Given the description of an element on the screen output the (x, y) to click on. 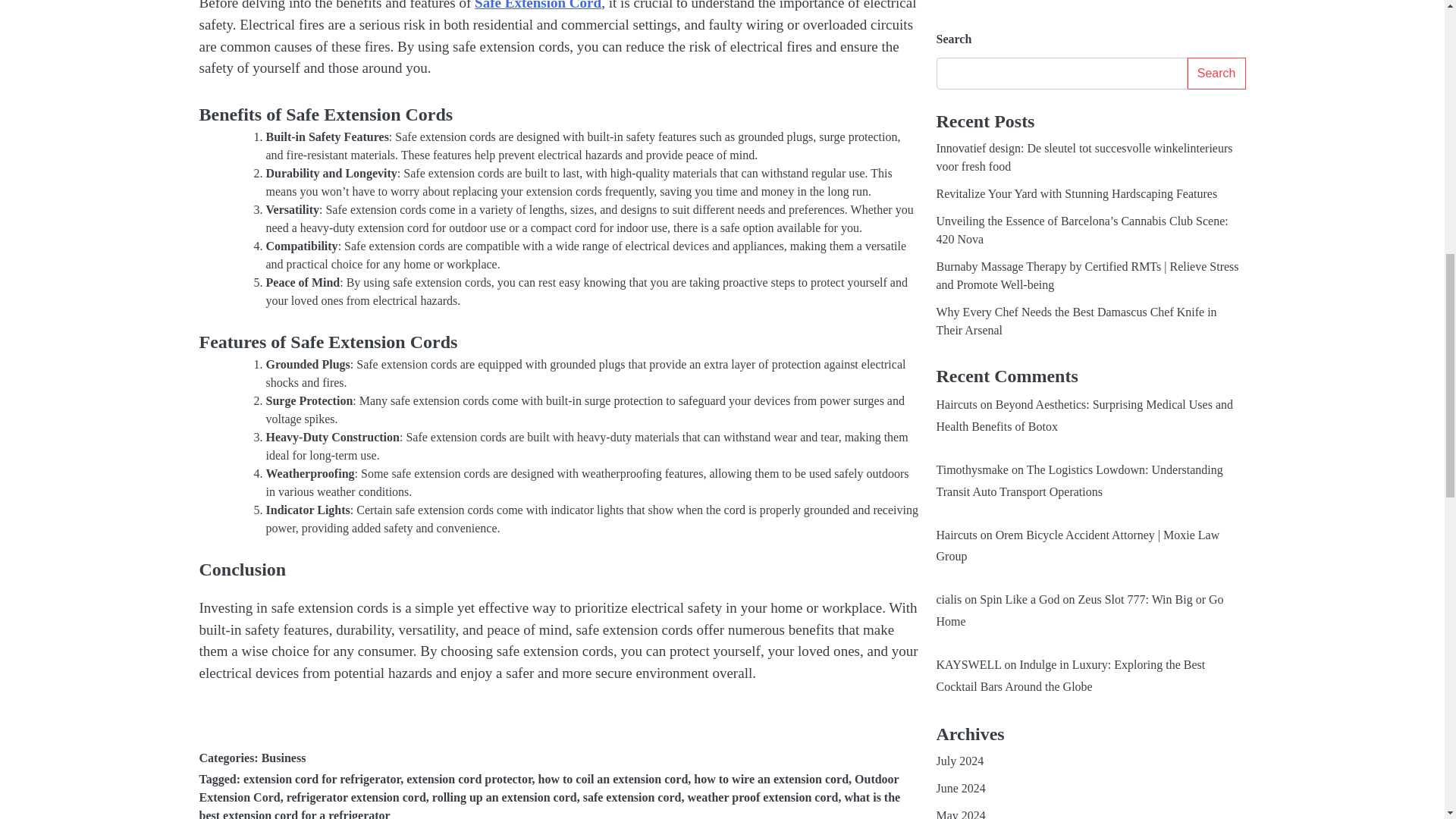
rolling up an extension cord (504, 797)
weather proof extension cord (762, 797)
how to coil an extension cord (613, 779)
Outdoor Extension Cord (548, 788)
extension cord protector (468, 779)
extension cord for refrigerator (321, 779)
what is the best extension cord for a refrigerator (548, 805)
safe extension cord (632, 797)
Safe Extension Cord (537, 5)
Business (283, 757)
refrigerator extension cord (356, 797)
how to wire an extension cord (771, 779)
